Given the description of an element on the screen output the (x, y) to click on. 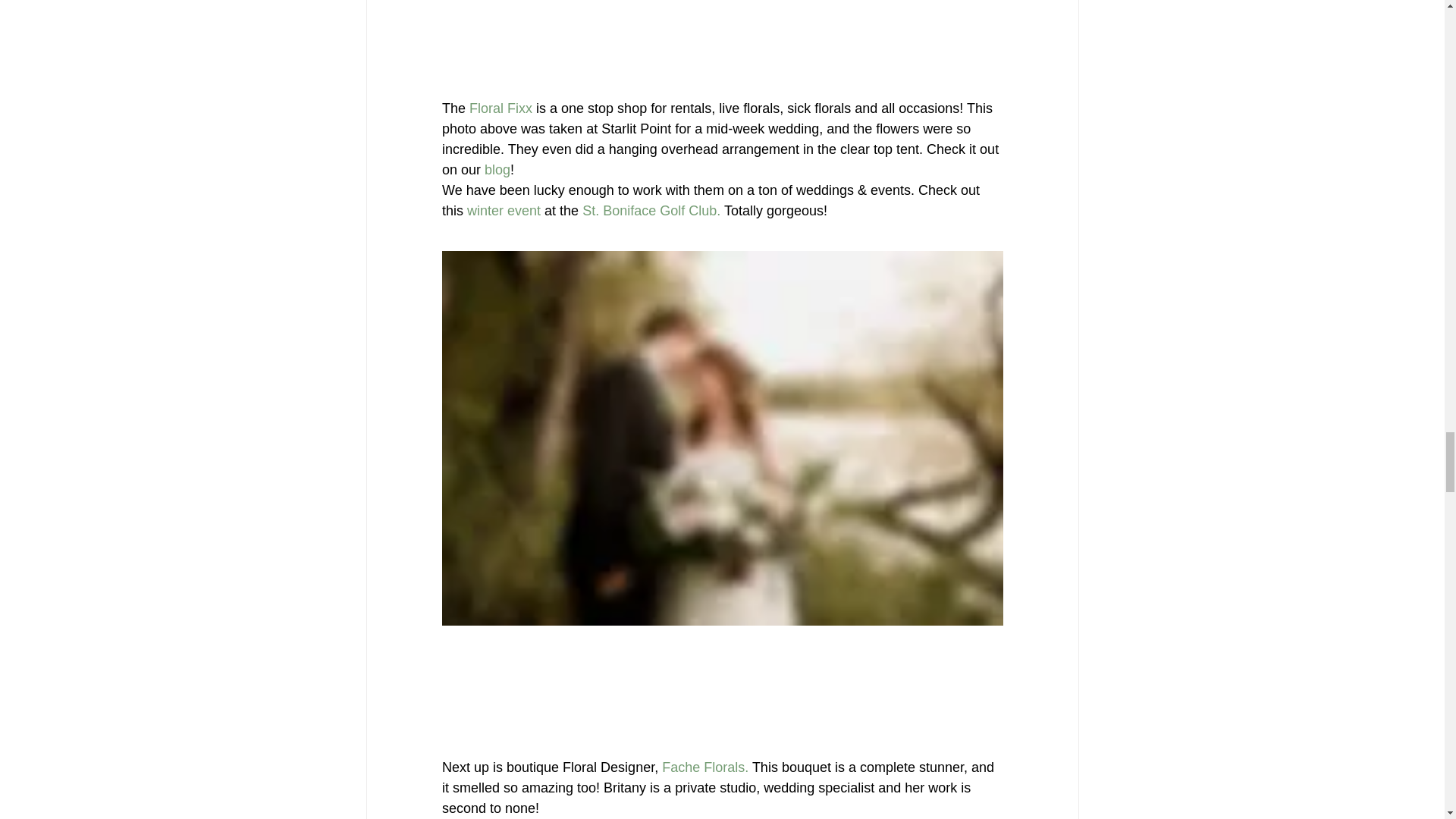
St. Boniface Golf Club. (651, 210)
Fache Florals. (705, 766)
blog (497, 169)
Floral Fixx  (501, 108)
winter event (503, 210)
